Given the description of an element on the screen output the (x, y) to click on. 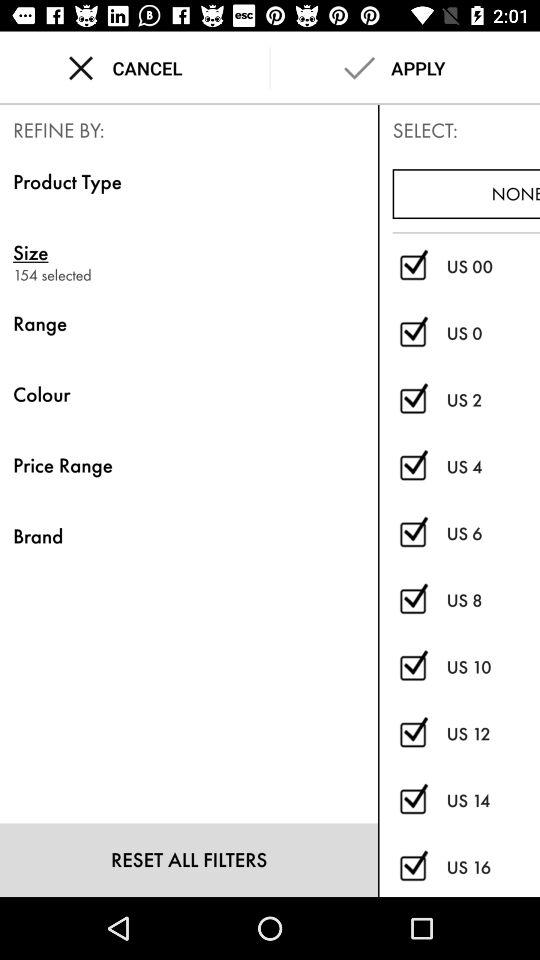
us size 6 (412, 533)
